Given the description of an element on the screen output the (x, y) to click on. 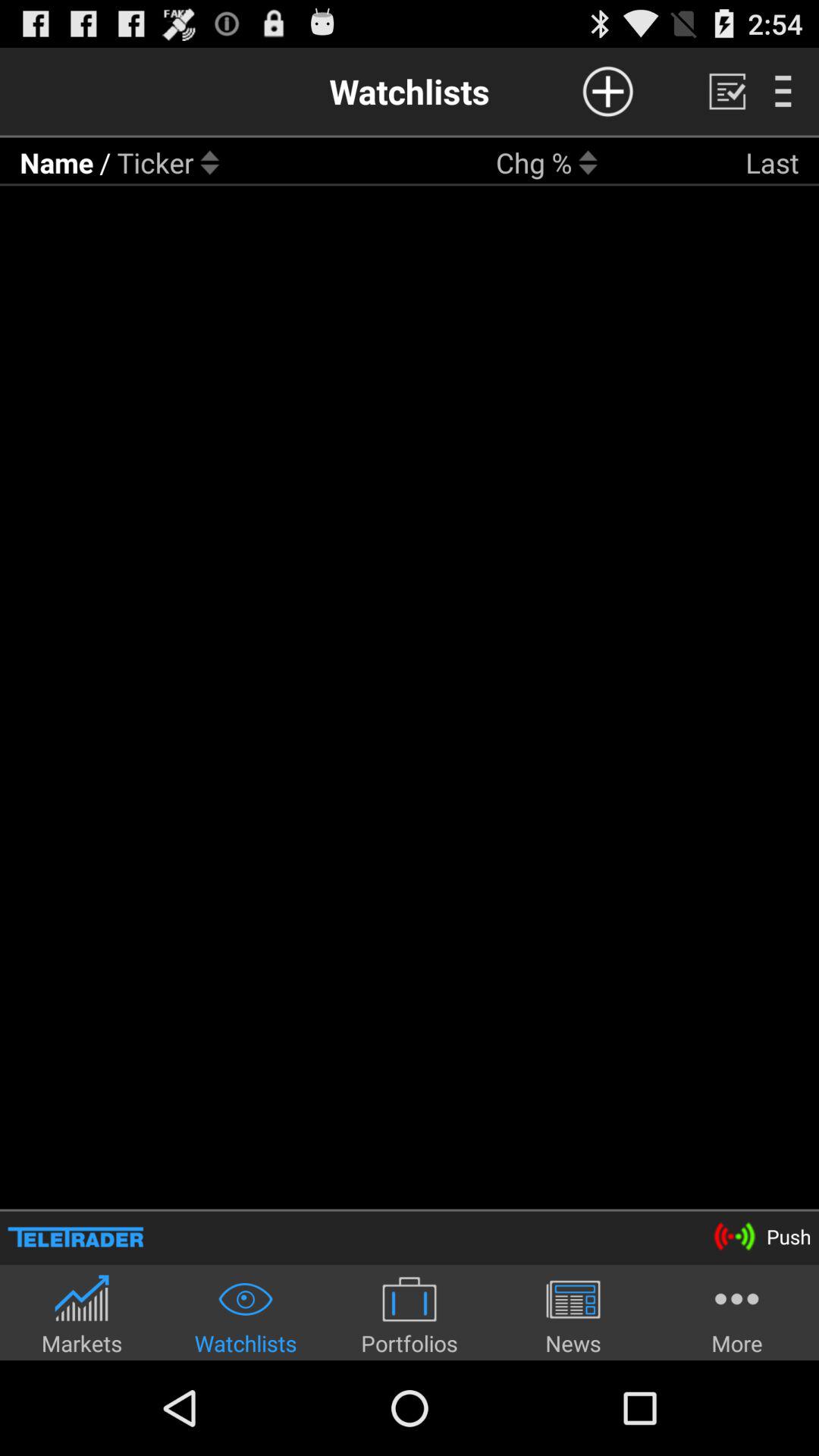
click icon next to the push (75, 1236)
